Given the description of an element on the screen output the (x, y) to click on. 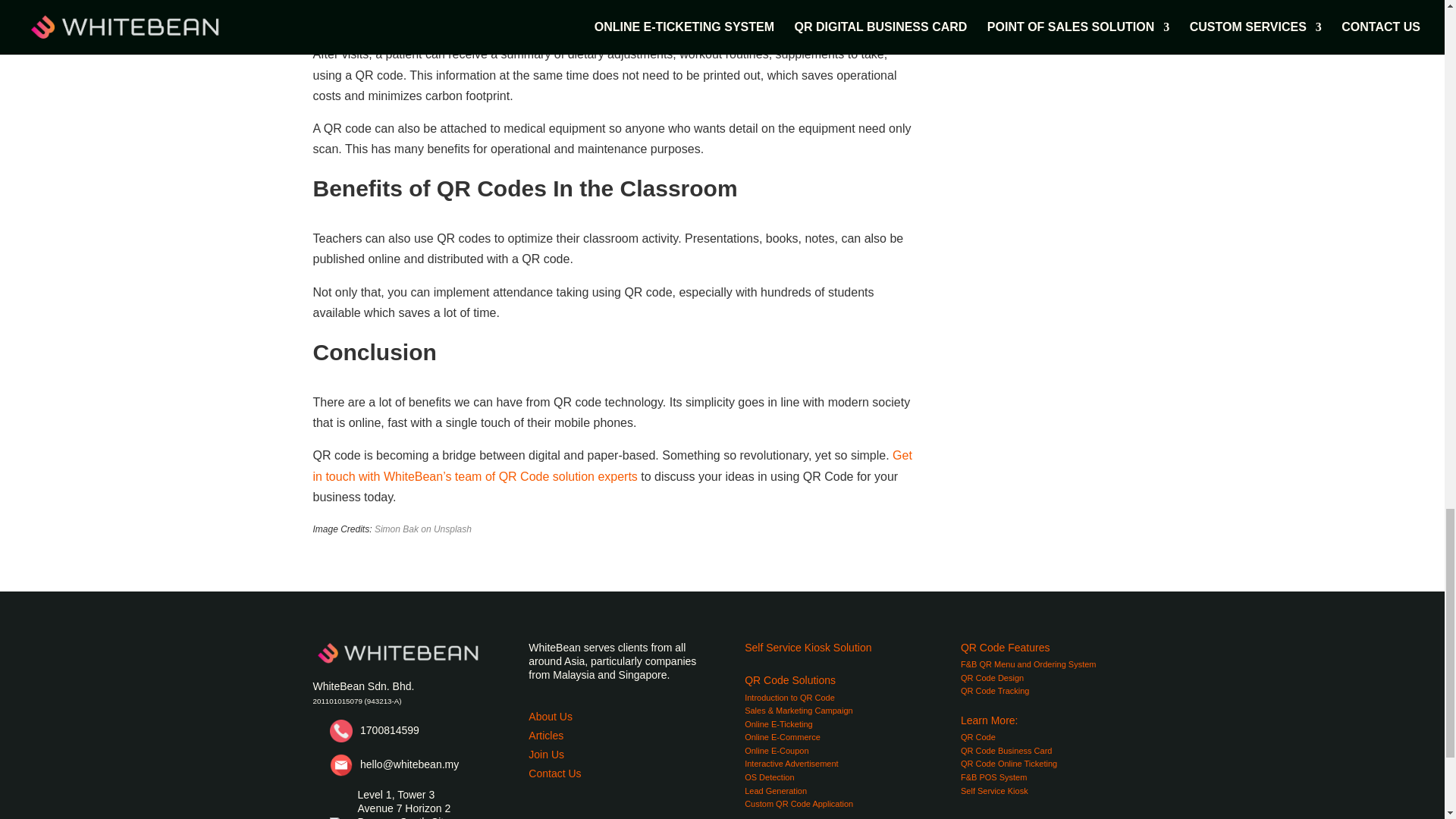
QR Code Features (1004, 647)
Self Service Kiosk (993, 790)
QR Code Solutions (789, 680)
Online E-Coupon (776, 750)
QR Code Design (991, 677)
About Us (550, 716)
Articles (545, 735)
Online E-Commerce (782, 737)
OS Detection (768, 777)
Self Service Kiosk Solution (807, 647)
Contact Us (554, 773)
Lead Generation (775, 790)
Online E-Ticketing (778, 723)
Simon Bak on Unsplash (422, 529)
QR Code (977, 737)
